Given the description of an element on the screen output the (x, y) to click on. 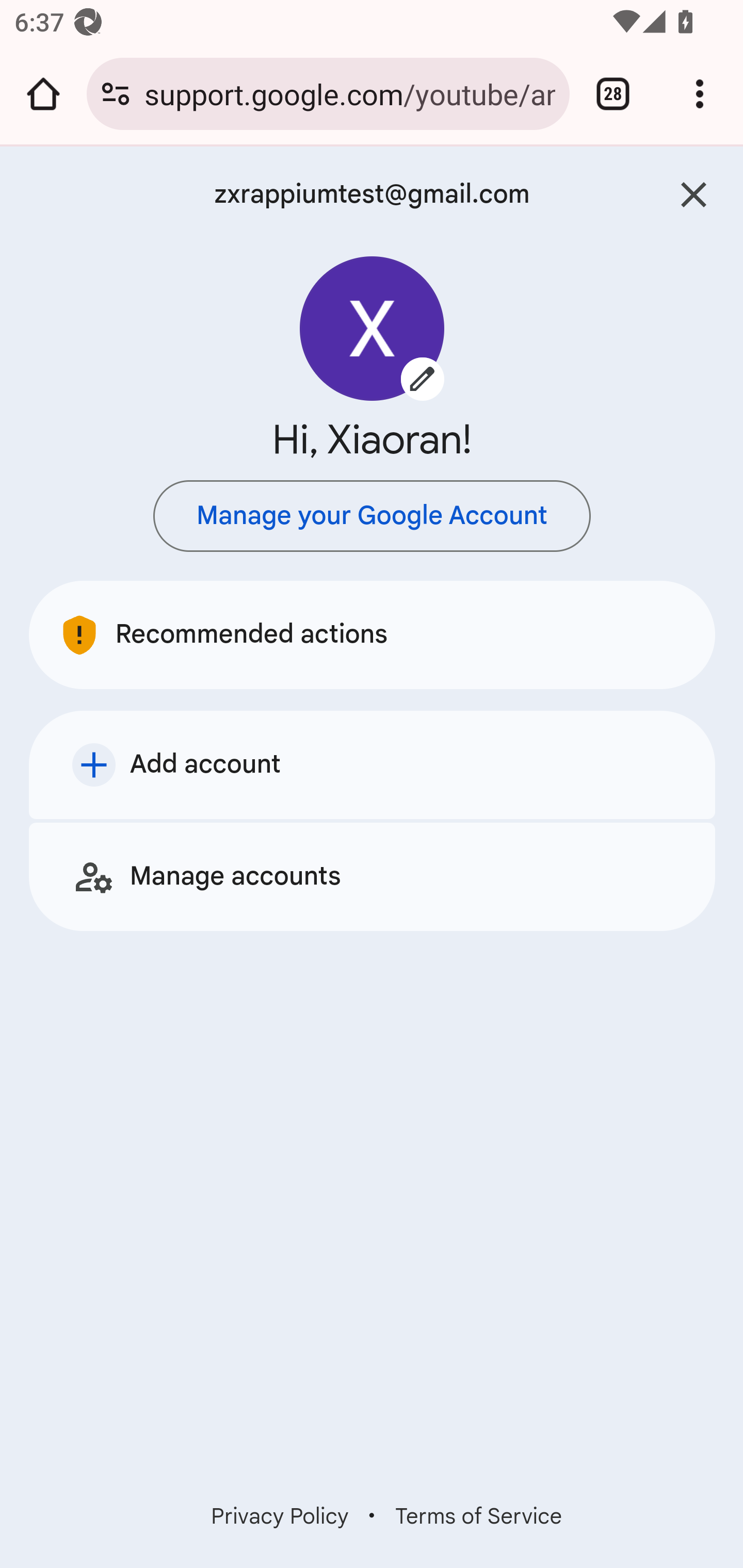
Open the home page (43, 93)
Connection is secure (115, 93)
Switch or close tabs (612, 93)
Customize and control Google Chrome (699, 93)
support.google.com/youtube/answer/7640706?hl=%@ (349, 92)
Close menu (694, 195)
Change profile picture (372, 328)
Add account (opens a new tab) Add account (372, 764)
Manage accounts (372, 876)
Privacy Policy (opens a new tab) Privacy Policy (280, 1516)
